Given the description of an element on the screen output the (x, y) to click on. 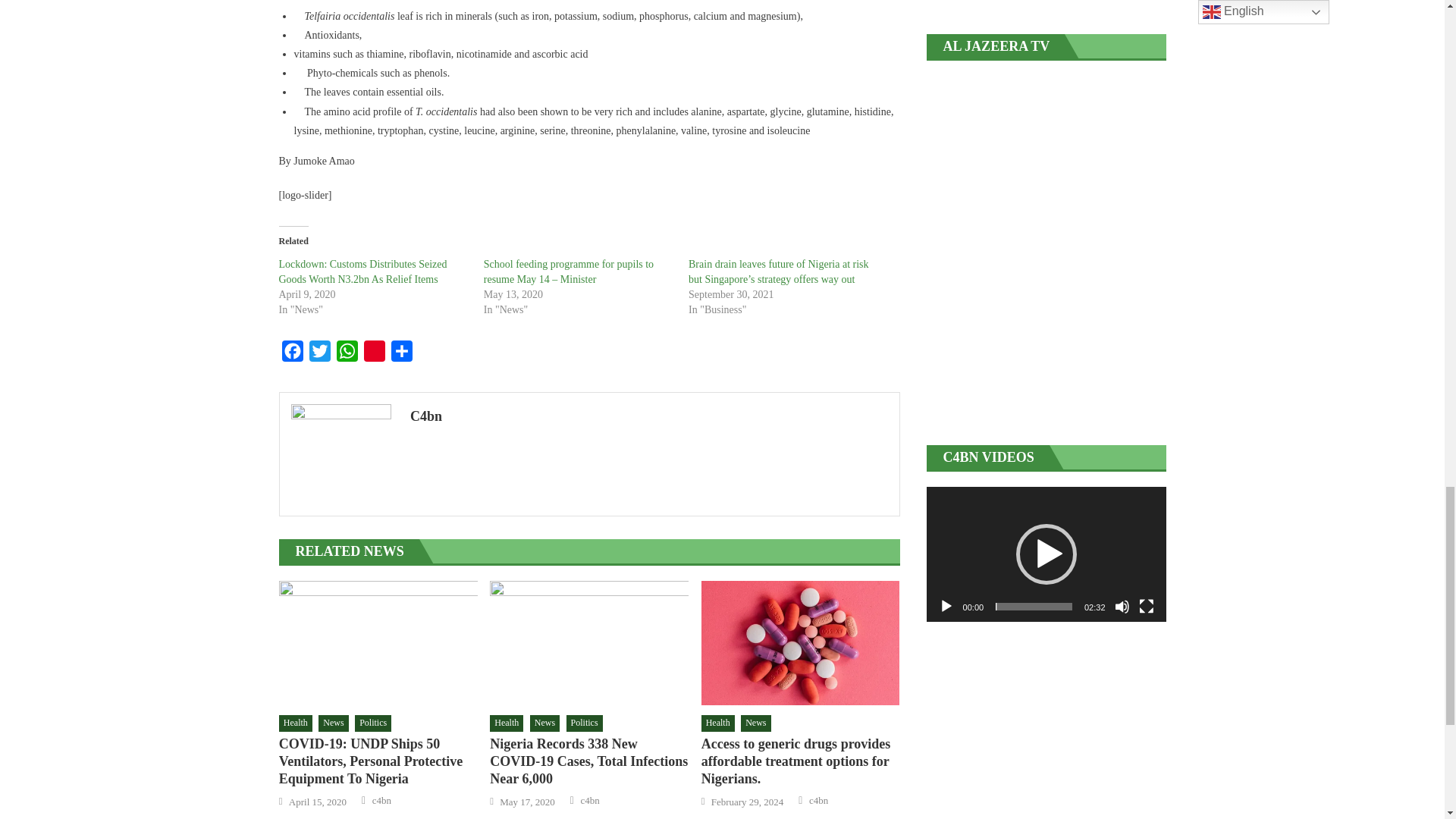
Pinterest (374, 354)
WhatsApp (347, 354)
Twitter (319, 354)
Facebook (292, 354)
WhatsApp (347, 354)
Twitter (319, 354)
Facebook (292, 354)
Share (401, 354)
Pinterest (374, 354)
